Given the description of an element on the screen output the (x, y) to click on. 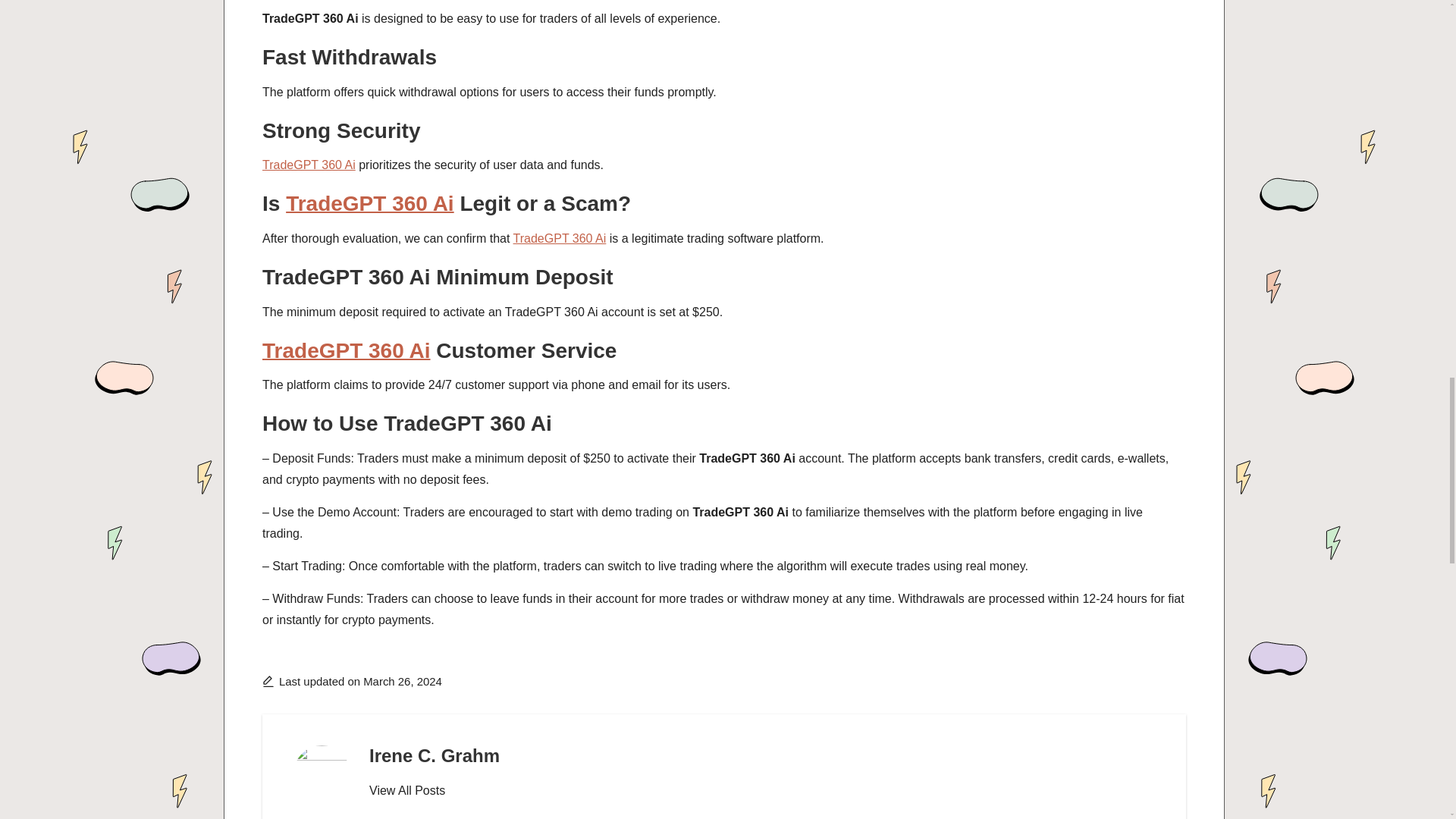
TradeGPT 360 Ai (560, 237)
Irene C. Grahm (434, 755)
TradeGPT 360 Ai (369, 203)
View All Posts (407, 791)
TradeGPT 360 Ai (308, 164)
TradeGPT 360 Ai (346, 350)
